Given the description of an element on the screen output the (x, y) to click on. 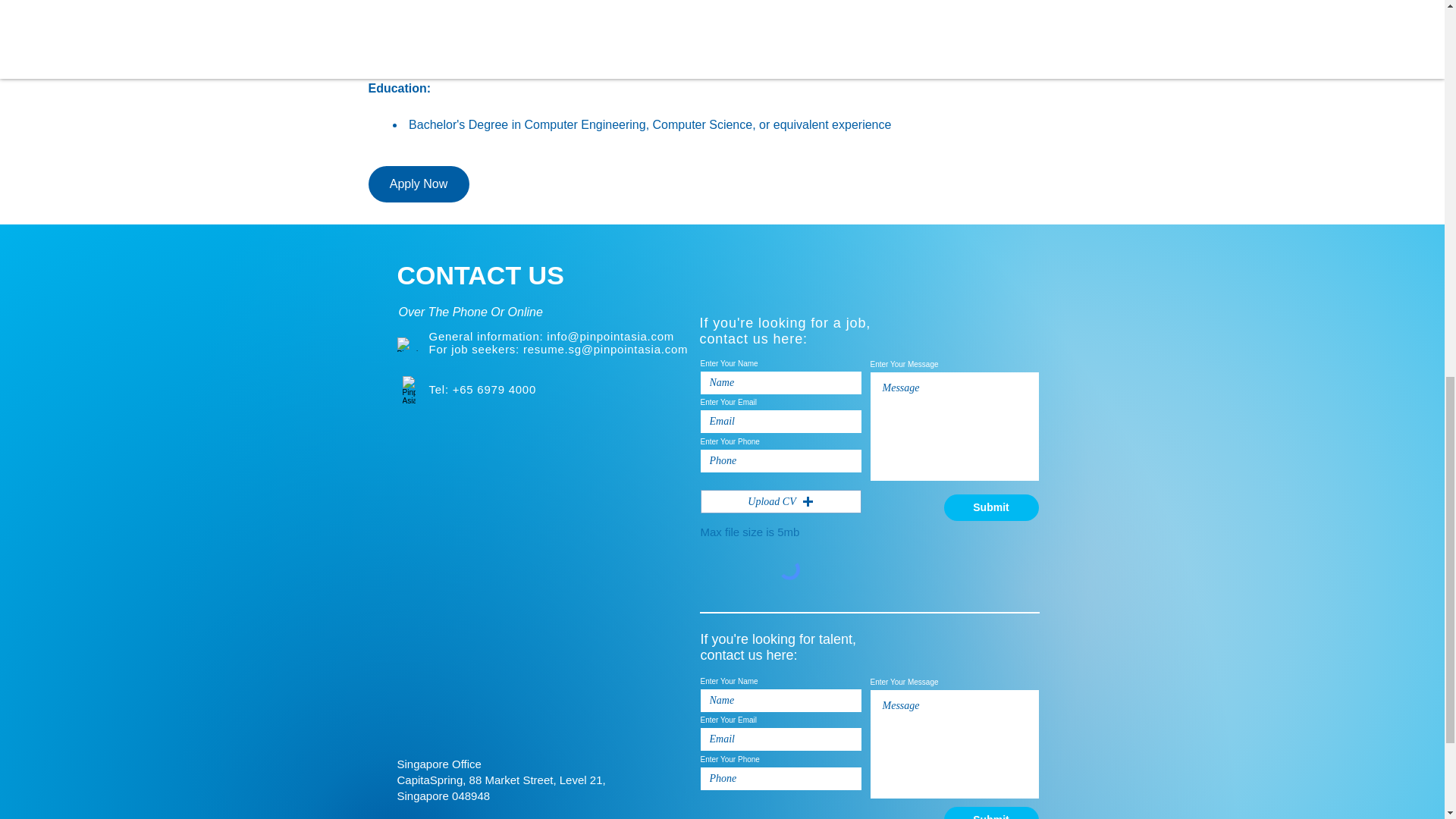
Apply Now (418, 184)
Max file size is 5mb (749, 531)
Submit (990, 507)
Submit (990, 812)
mail.png (408, 344)
